Given the description of an element on the screen output the (x, y) to click on. 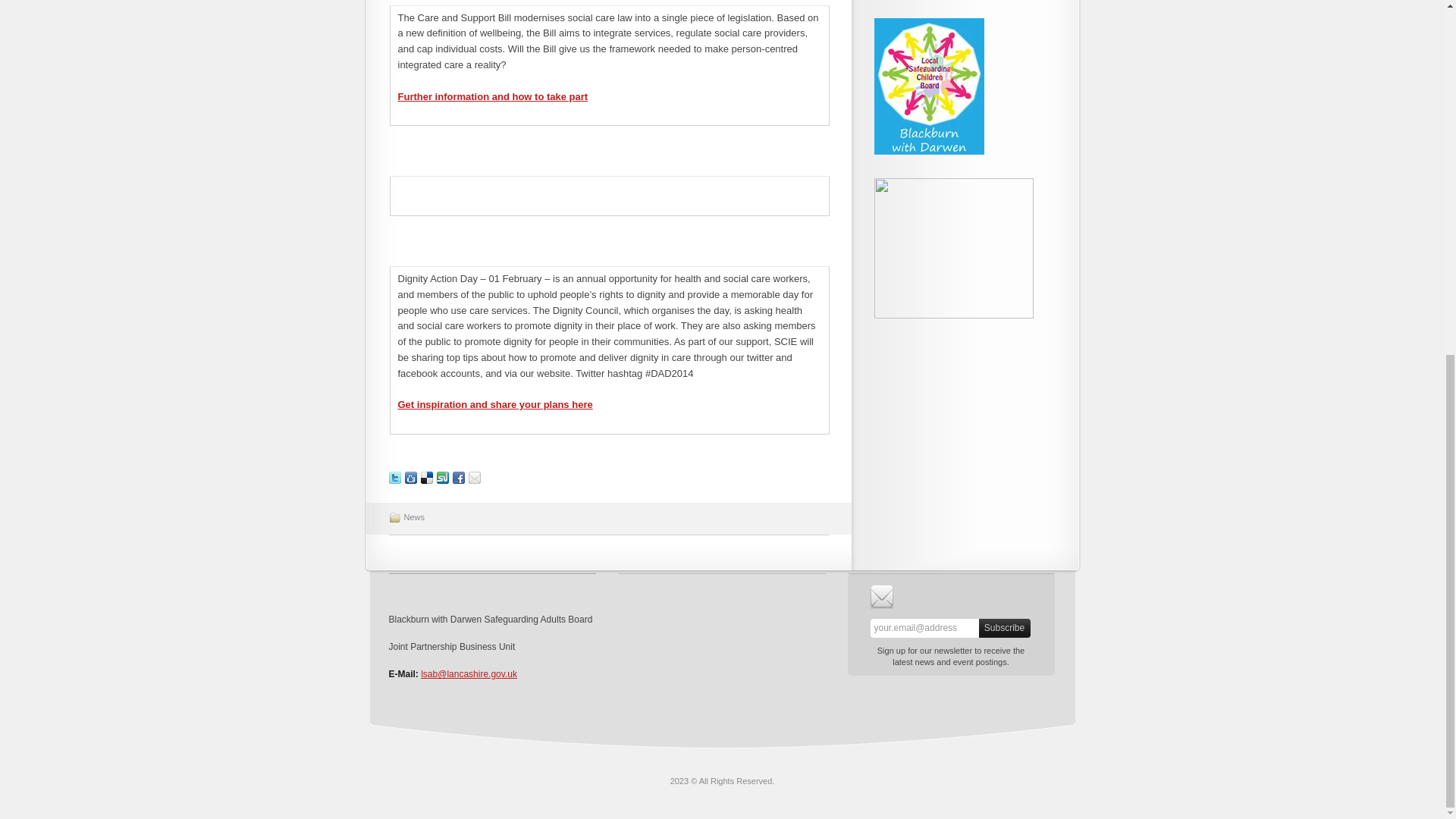
Get inspiration and share your plans here (494, 404)
Subscribe (1003, 628)
Further information and how to take part (492, 96)
News (414, 516)
Subscribe (1003, 628)
